Given the description of an element on the screen output the (x, y) to click on. 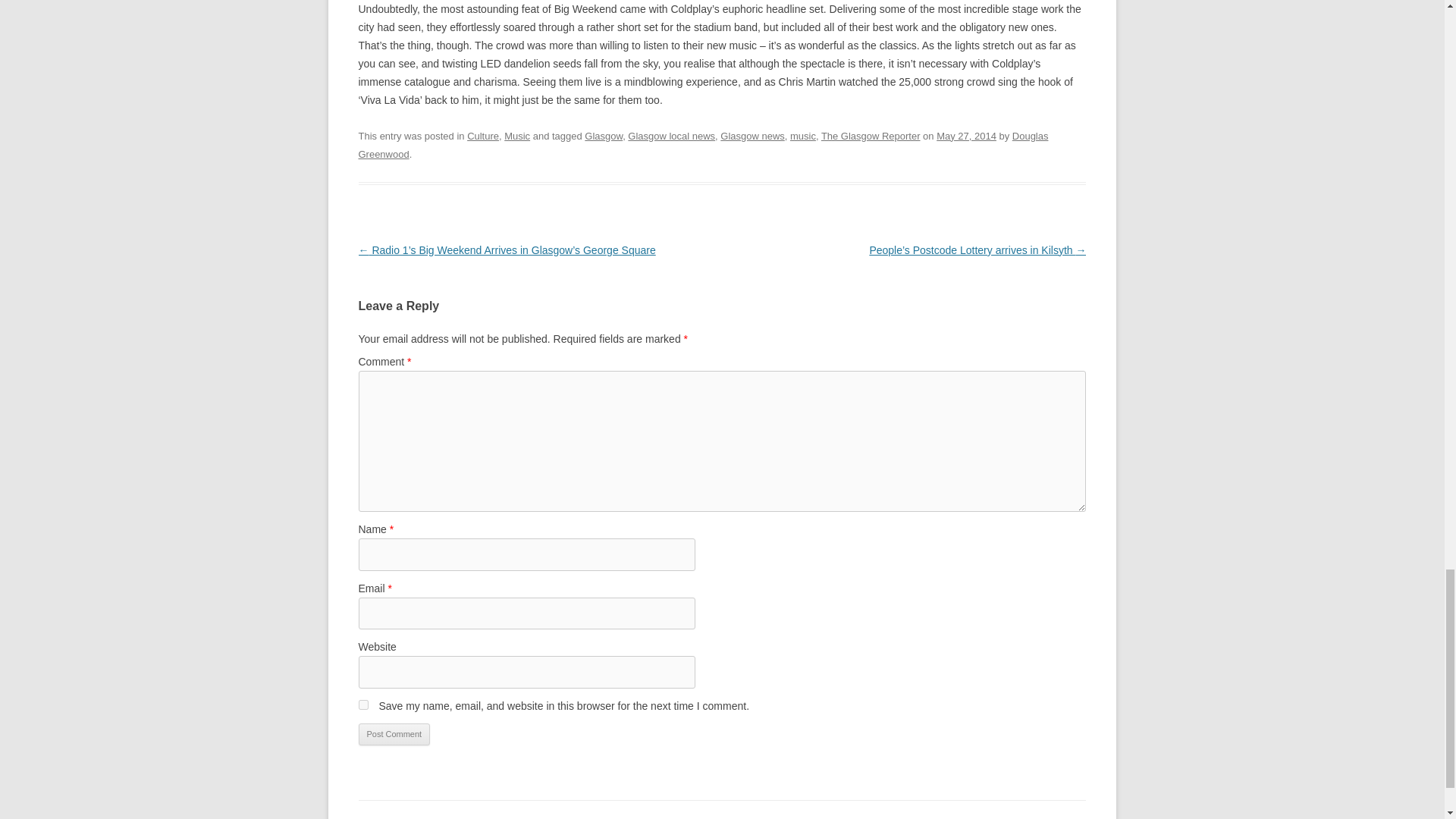
Culture (483, 135)
The Glasgow Reporter (870, 135)
Post Comment (393, 734)
Glasgow news (752, 135)
Glasgow (604, 135)
yes (363, 705)
Glasgow local news (670, 135)
Post Comment (393, 734)
Music (516, 135)
May 27, 2014 (965, 135)
